Given the description of an element on the screen output the (x, y) to click on. 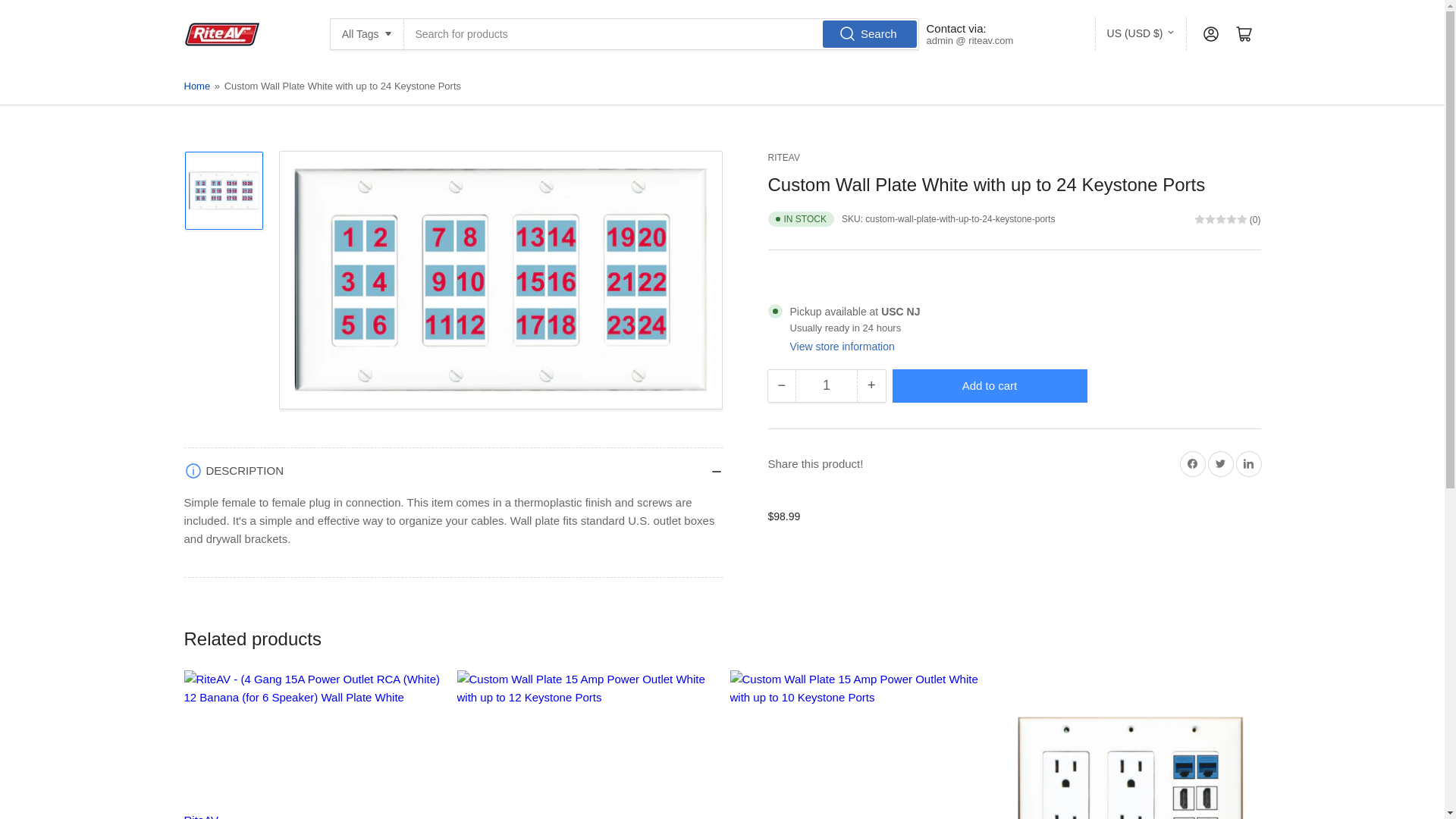
RiteAV (783, 157)
1 (825, 386)
Search (869, 33)
RiteAV (200, 816)
